Given the description of an element on the screen output the (x, y) to click on. 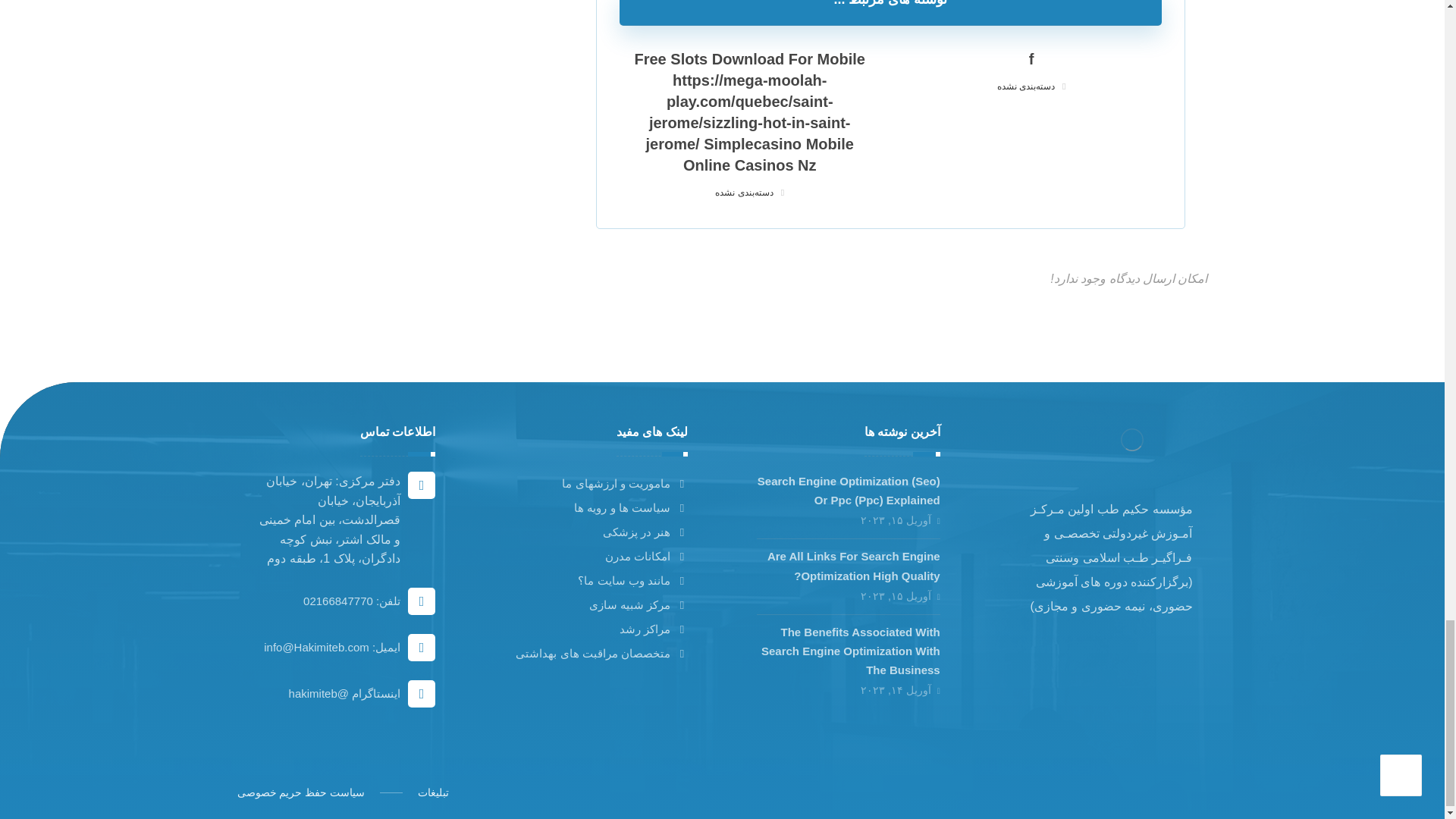
Are All Links For Search Engine Optimization High Quality? (853, 565)
